Given the description of an element on the screen output the (x, y) to click on. 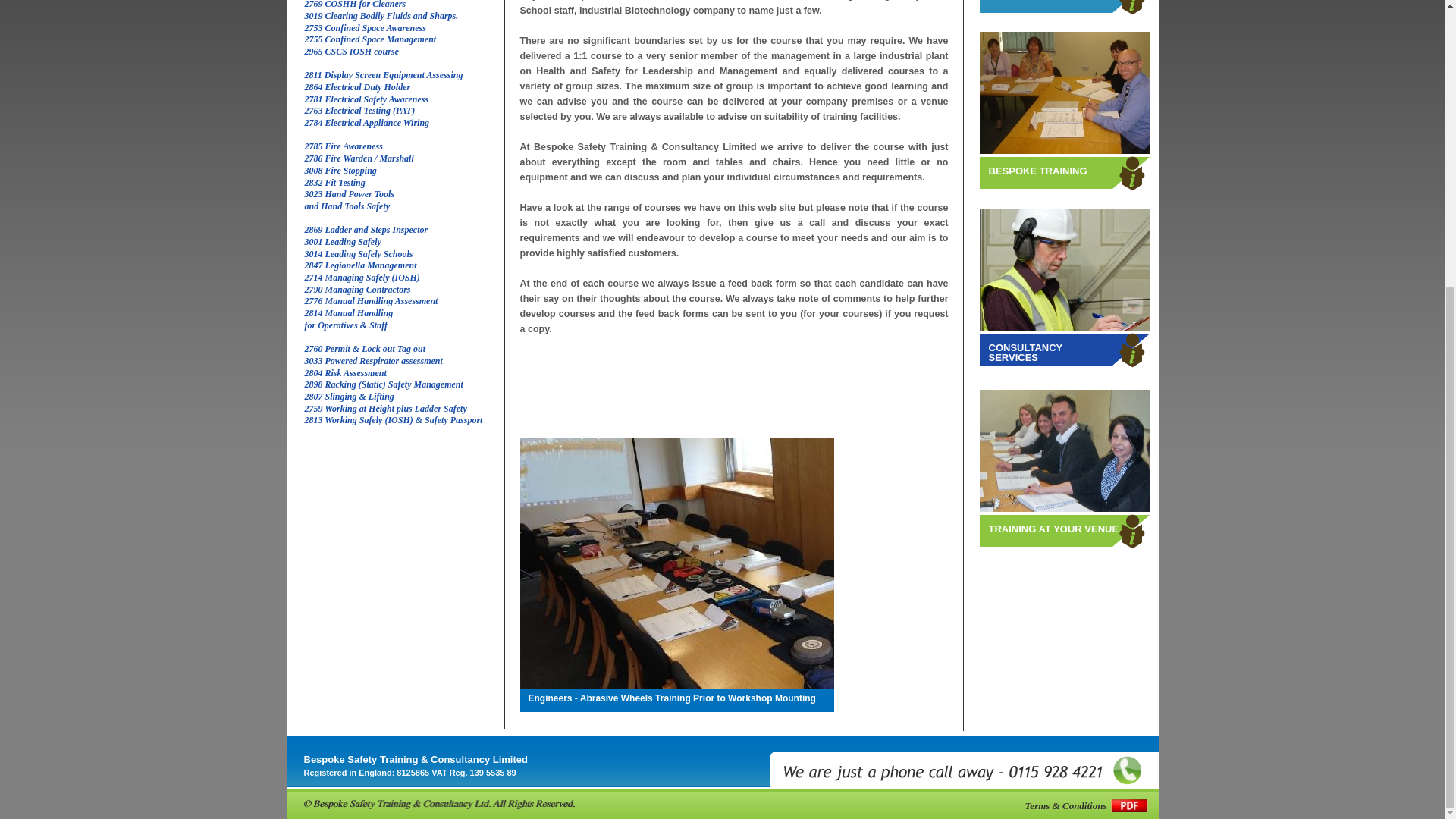
3014 Leading Safely Schools (358, 253)
TRAINING COURSES (1037, 1)
2811 Display Screen Equipment Assessing (383, 74)
2784 Electrical Appliance Wiring (366, 122)
2965 CSCS IOSH course (351, 50)
3001 Leading Safely (342, 241)
CONSULTANCY SERVICES (1025, 352)
3023 Hand Power Tools (349, 194)
2864 Electrical Duty Holder (357, 86)
2753 Confined Space Awareness (365, 27)
2781 Electrical Safety Awareness (366, 99)
2847 Legionella Management (360, 265)
2869 Ladder and Steps Inspector (366, 229)
3008 Fire Stopping (340, 170)
2776 Manual Handling Assessment (371, 300)
